Given the description of an element on the screen output the (x, y) to click on. 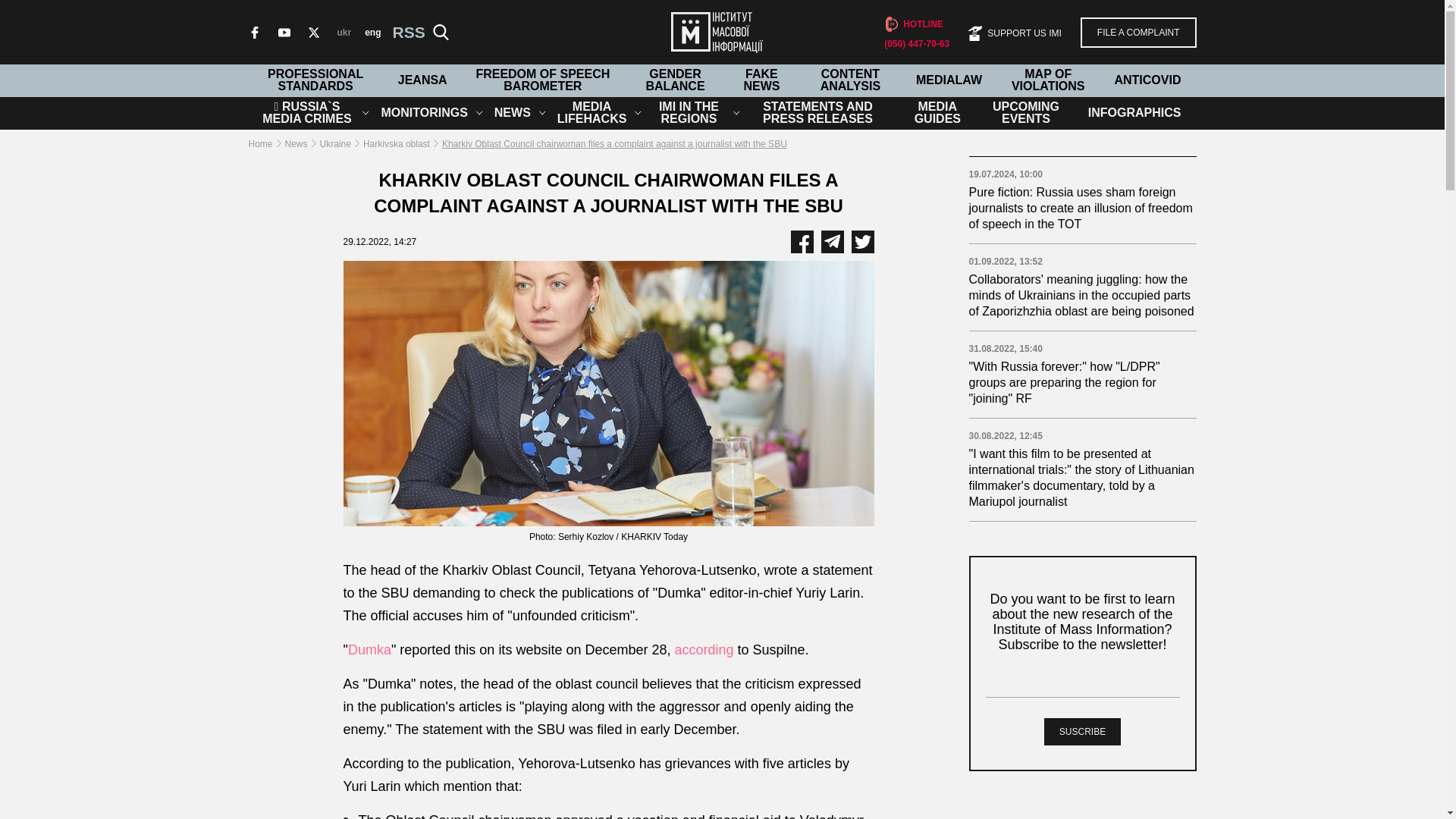
FREEDOM OF SPEECH BAROMETER (542, 79)
HOTLINE (913, 23)
FAKE NEWS (761, 79)
RSS (403, 32)
eng (372, 31)
MEDIALAW (948, 80)
ANTICOVID (1146, 80)
NEWS (513, 112)
FILE A COMPLAINT (1138, 31)
